Given the description of an element on the screen output the (x, y) to click on. 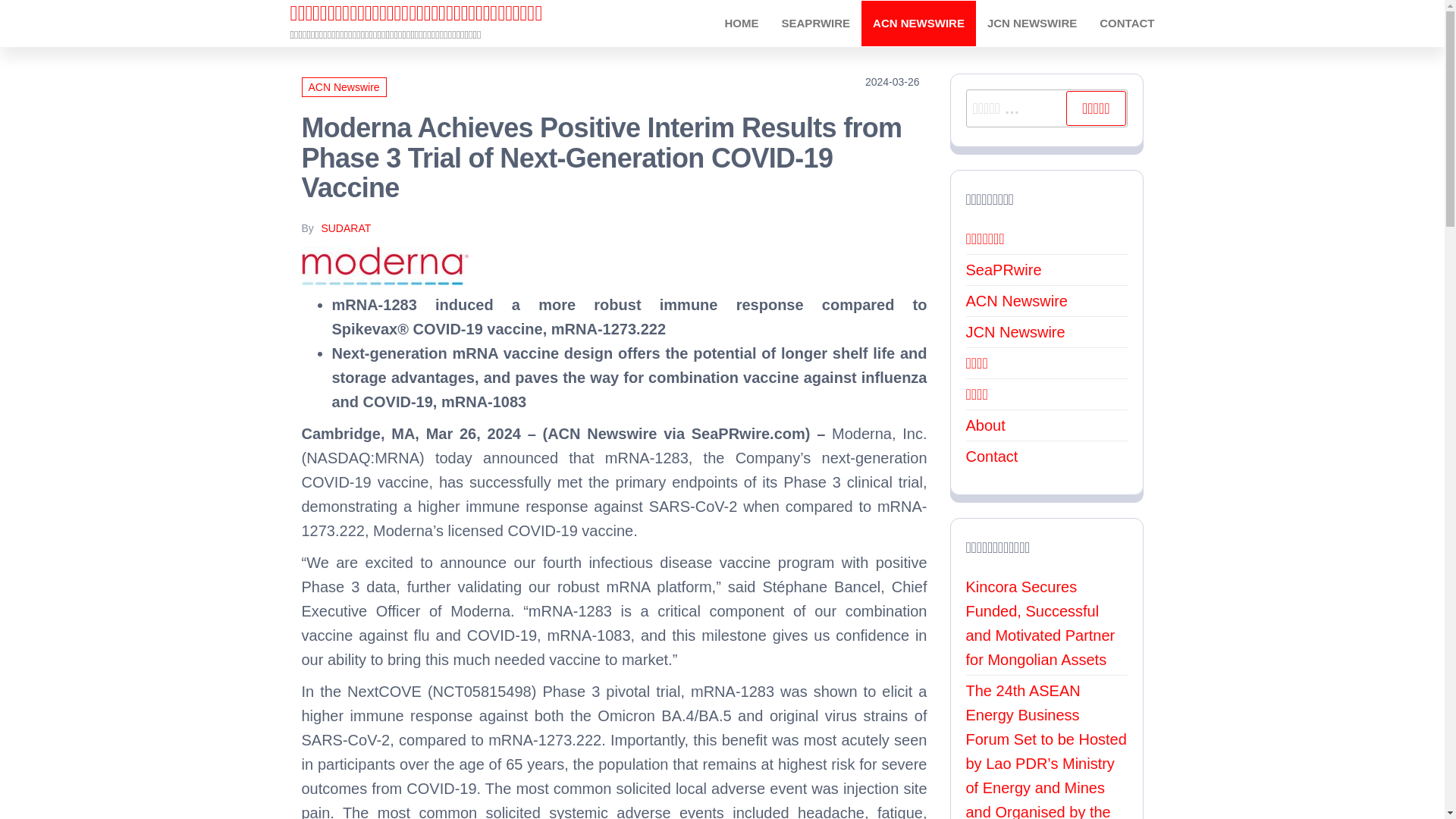
HOME (741, 22)
CONTACT (1126, 22)
Home (741, 22)
SEAPRWIRE (815, 22)
ACN NEWSWIRE (918, 22)
Contact (1126, 22)
SeaPRwire (1004, 269)
ACN Newswire (1016, 300)
ACN Newswire (918, 22)
JCN Newswire (1015, 331)
